Given the description of an element on the screen output the (x, y) to click on. 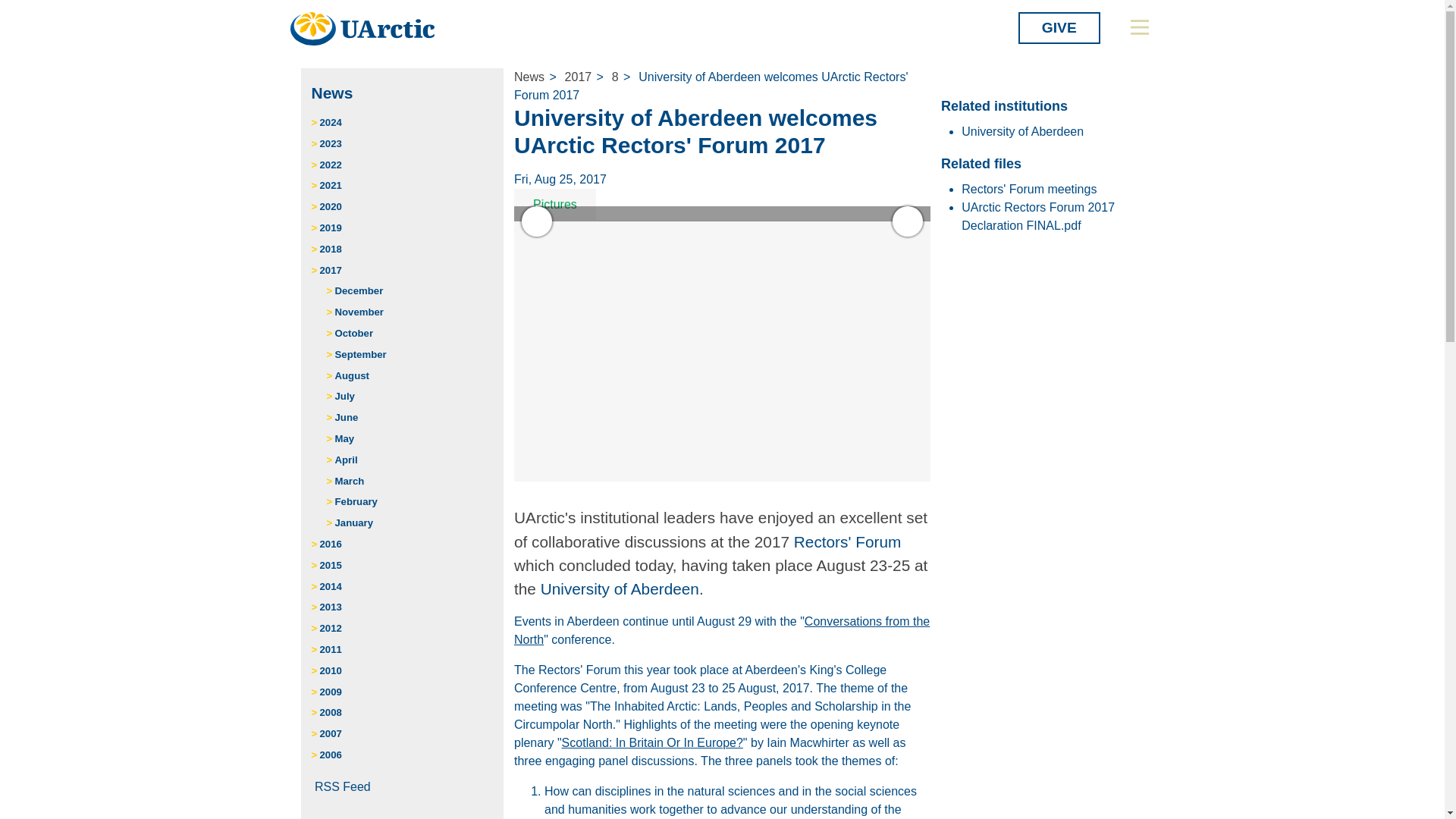
University of Aberdeen (619, 588)
Macwhirter.pdf (652, 742)
University of Aberdeen (1021, 131)
GIVE (1058, 28)
